Given the description of an element on the screen output the (x, y) to click on. 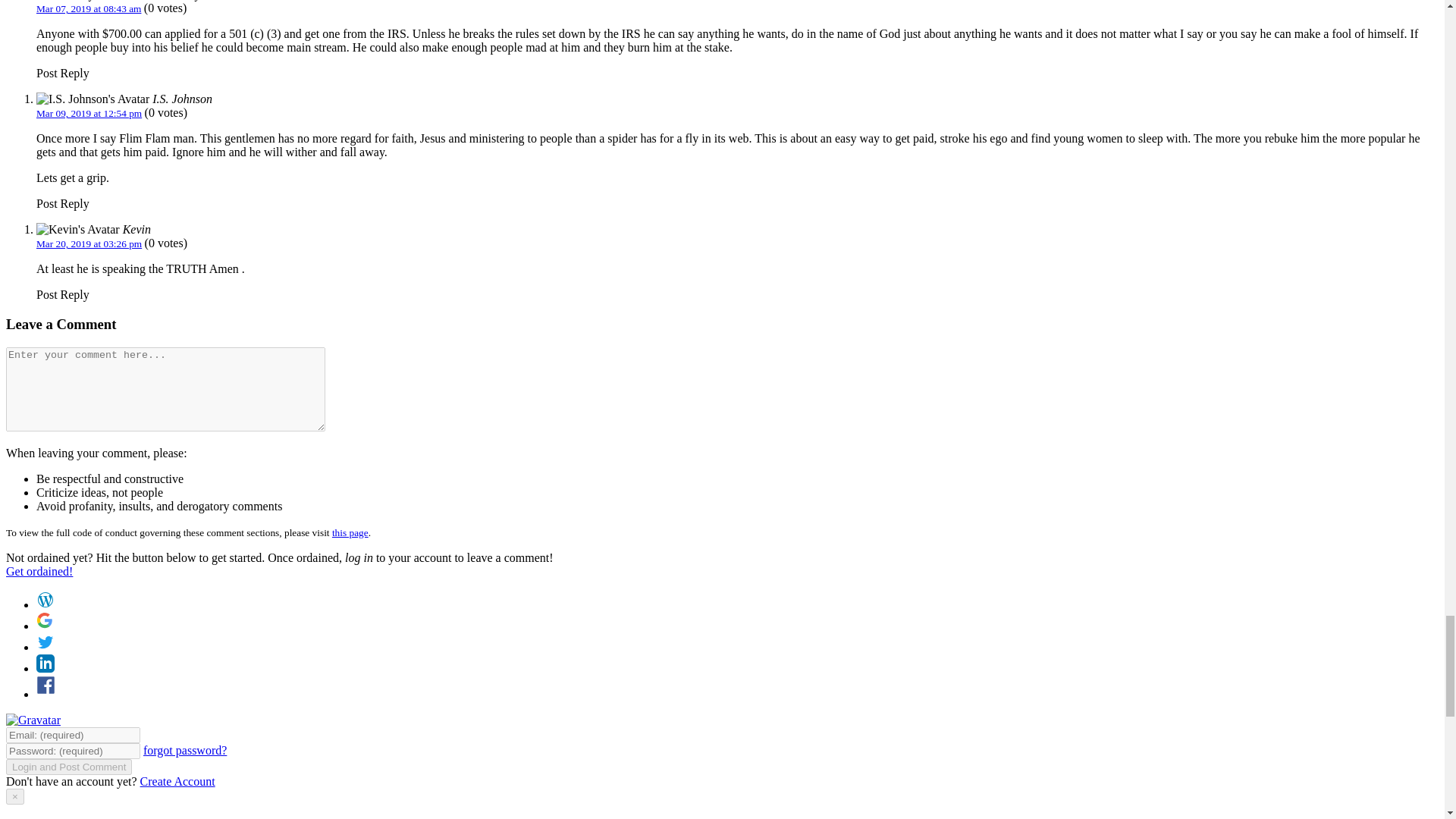
Login and Post Comment (68, 766)
Login via Twitter (45, 646)
Login via LinkedIn (45, 667)
Login via WordPress.com (45, 604)
Login via Google (45, 625)
